Given the description of an element on the screen output the (x, y) to click on. 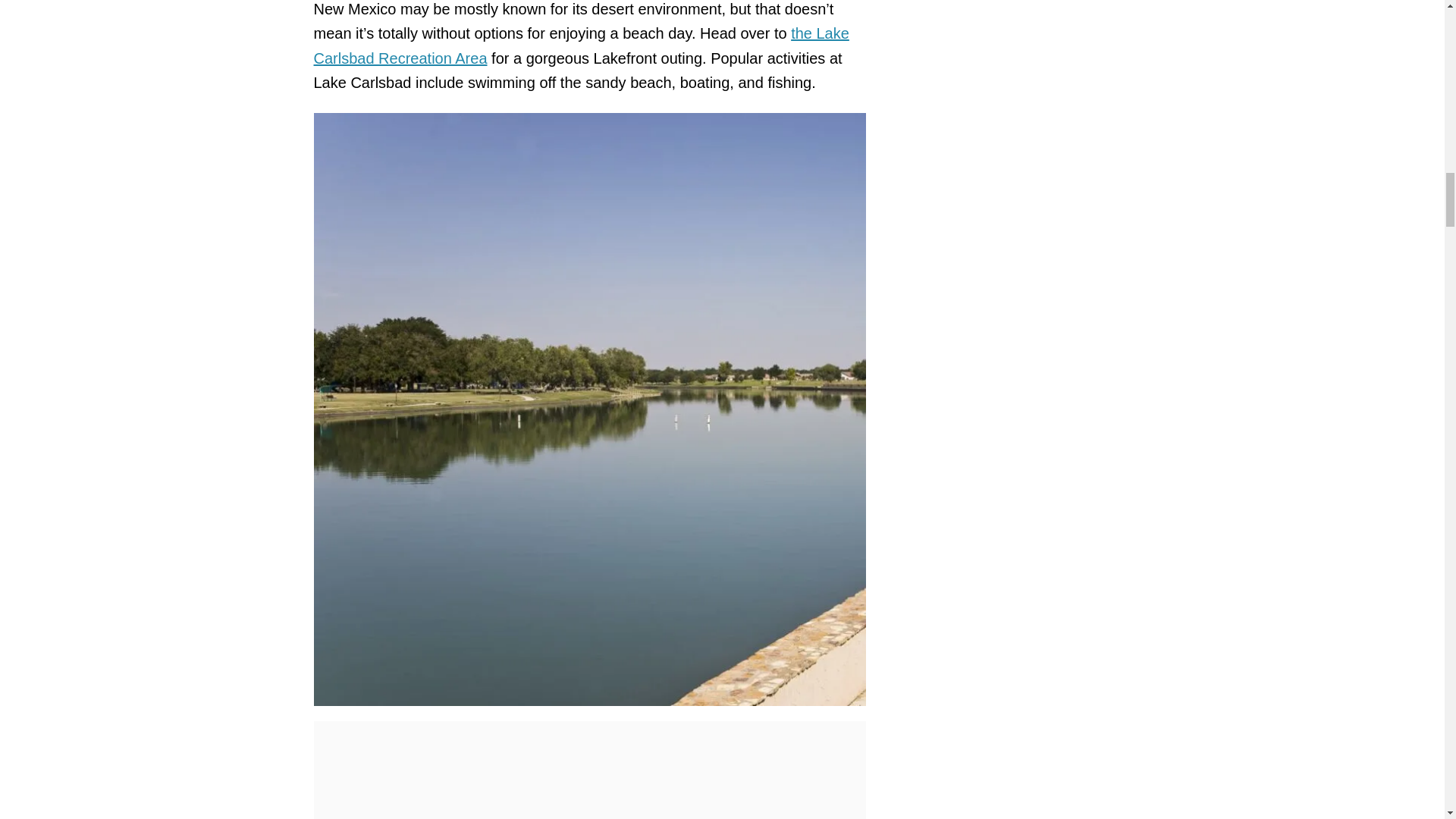
the Lake Carlsbad Recreation Area (581, 45)
